Given the description of an element on the screen output the (x, y) to click on. 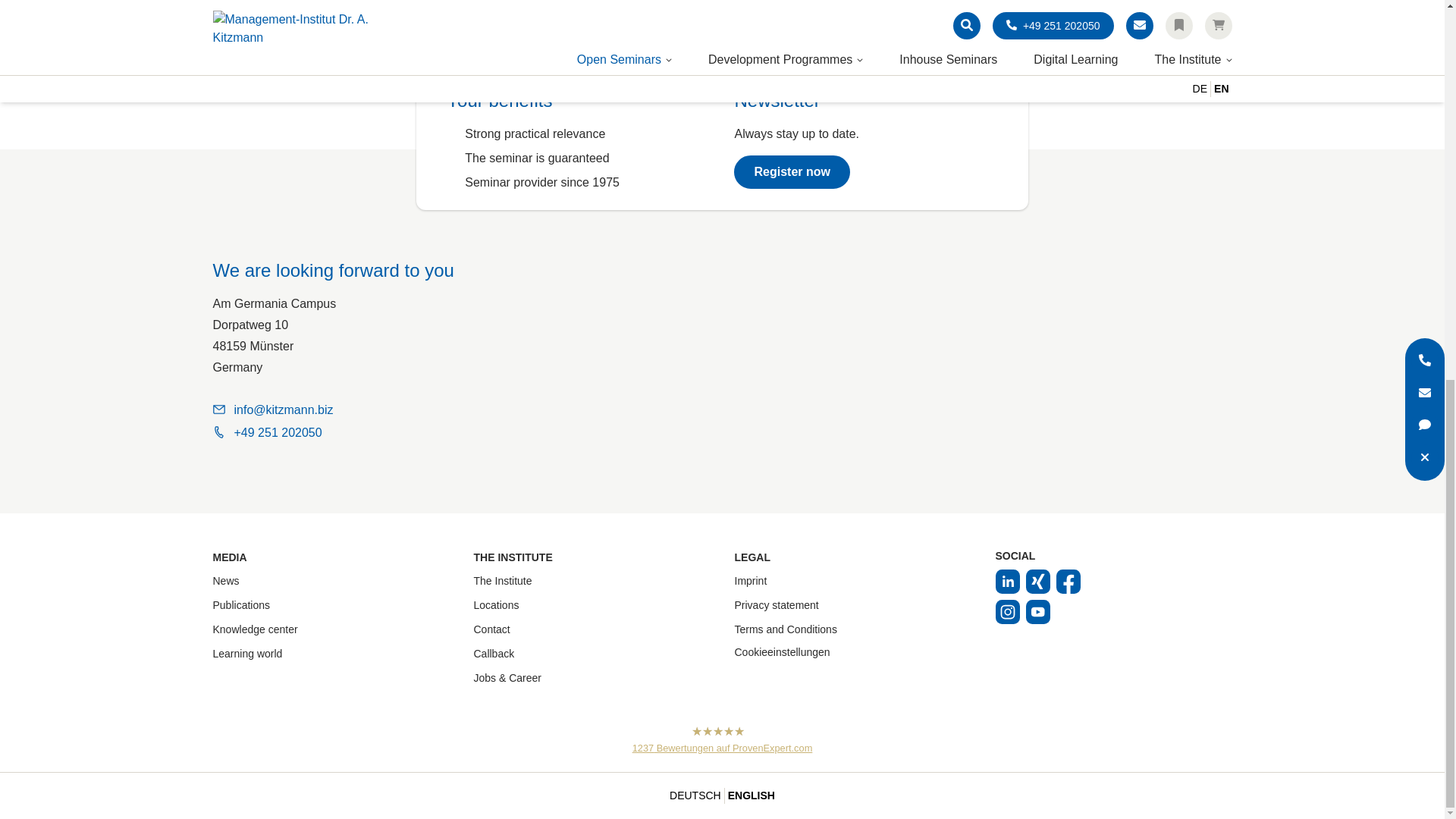
Learning world (247, 653)
Contact (491, 629)
Callback (493, 653)
The Institute (502, 580)
Privacy statement (775, 604)
Imprint (750, 580)
Locations (495, 604)
Register now (790, 172)
Publications (240, 604)
Knowledge center (254, 629)
Terms and Conditions (784, 629)
News (225, 580)
